Given the description of an element on the screen output the (x, y) to click on. 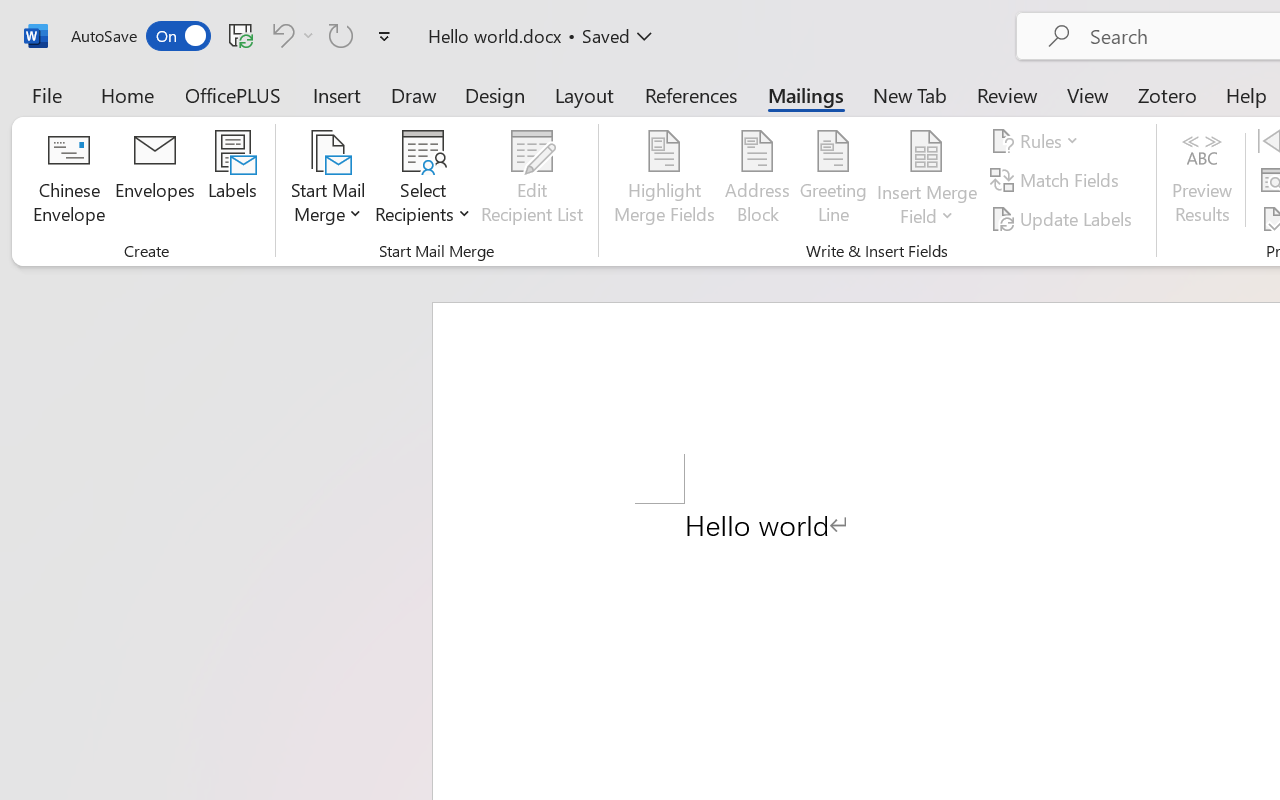
Mailings (806, 94)
Can't Repeat (341, 35)
Greeting Line... (833, 179)
Rules (1037, 141)
Layout (584, 94)
Draw (413, 94)
Preview Results (1202, 179)
Review (1007, 94)
Insert Merge Field (927, 179)
AutoSave (140, 35)
Insert Merge Field (927, 151)
Select Recipients (423, 179)
Home (127, 94)
